Given the description of an element on the screen output the (x, y) to click on. 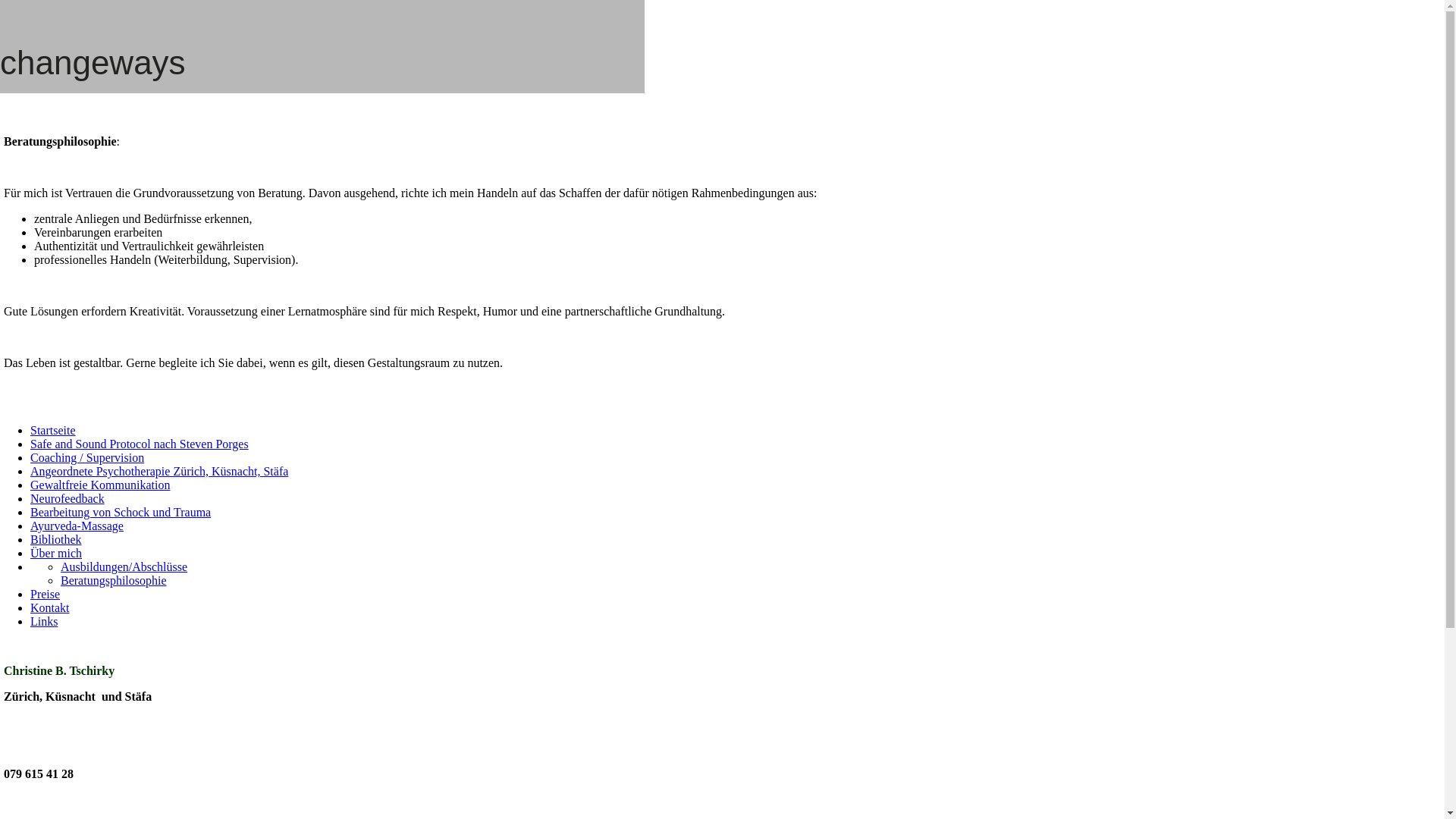
Neurofeedback Element type: text (67, 498)
Gewaltfreie Kommunikation Element type: text (99, 484)
Links Element type: text (43, 621)
Ayurveda-Massage Element type: text (76, 525)
Bibliothek Element type: text (55, 539)
Preise Element type: text (44, 593)
Coaching / Supervision Element type: text (87, 457)
Startseite Element type: text (52, 429)
Safe and Sound Protocol nach Steven Porges Element type: text (139, 443)
Beratungsphilosophie Element type: text (113, 580)
Bearbeitung von Schock und Trauma Element type: text (120, 511)
Kontakt Element type: text (49, 607)
